Given the description of an element on the screen output the (x, y) to click on. 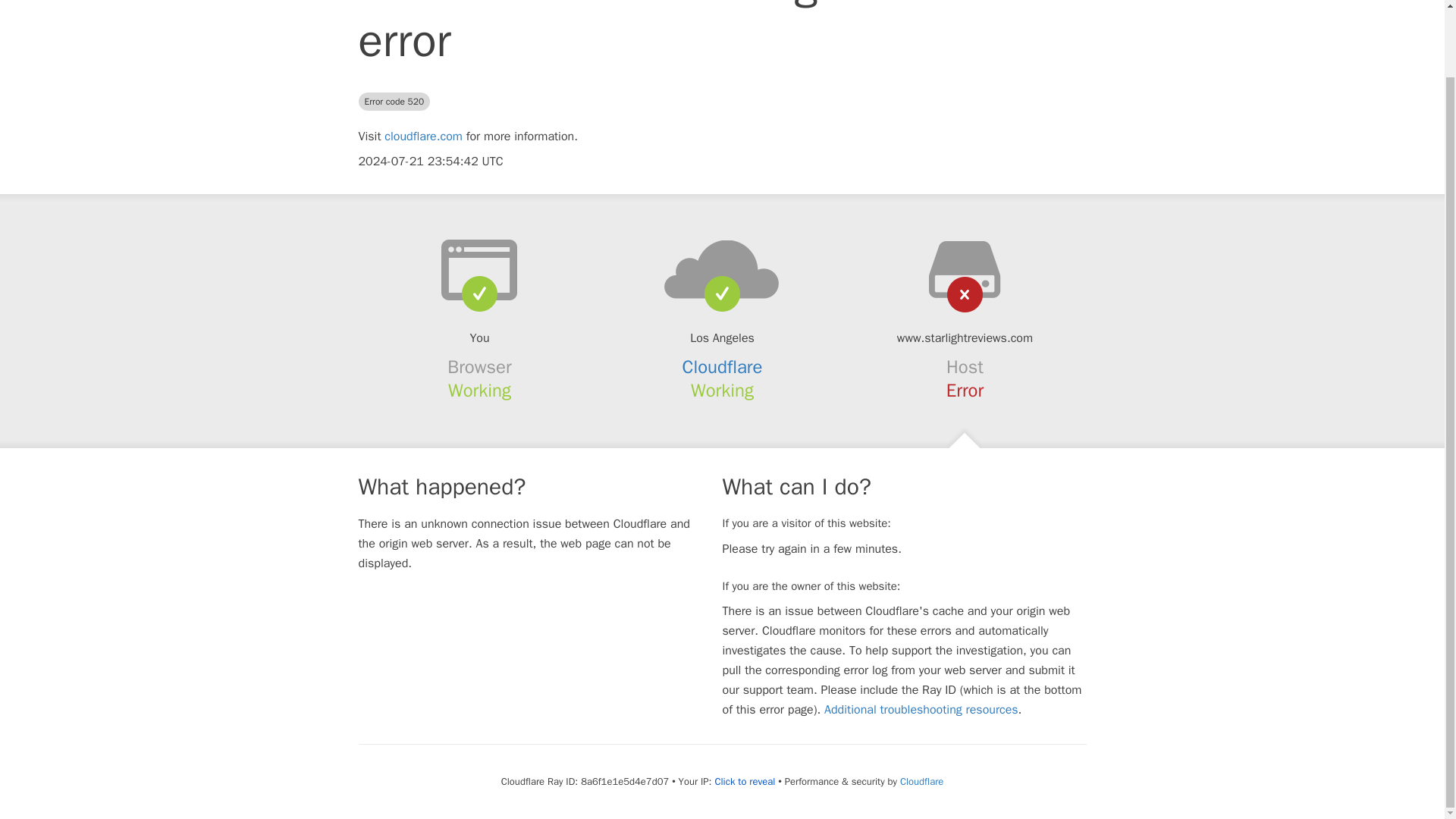
Click to reveal (744, 781)
Cloudflare (921, 780)
Additional troubleshooting resources (920, 709)
cloudflare.com (423, 136)
Cloudflare (722, 366)
